Given the description of an element on the screen output the (x, y) to click on. 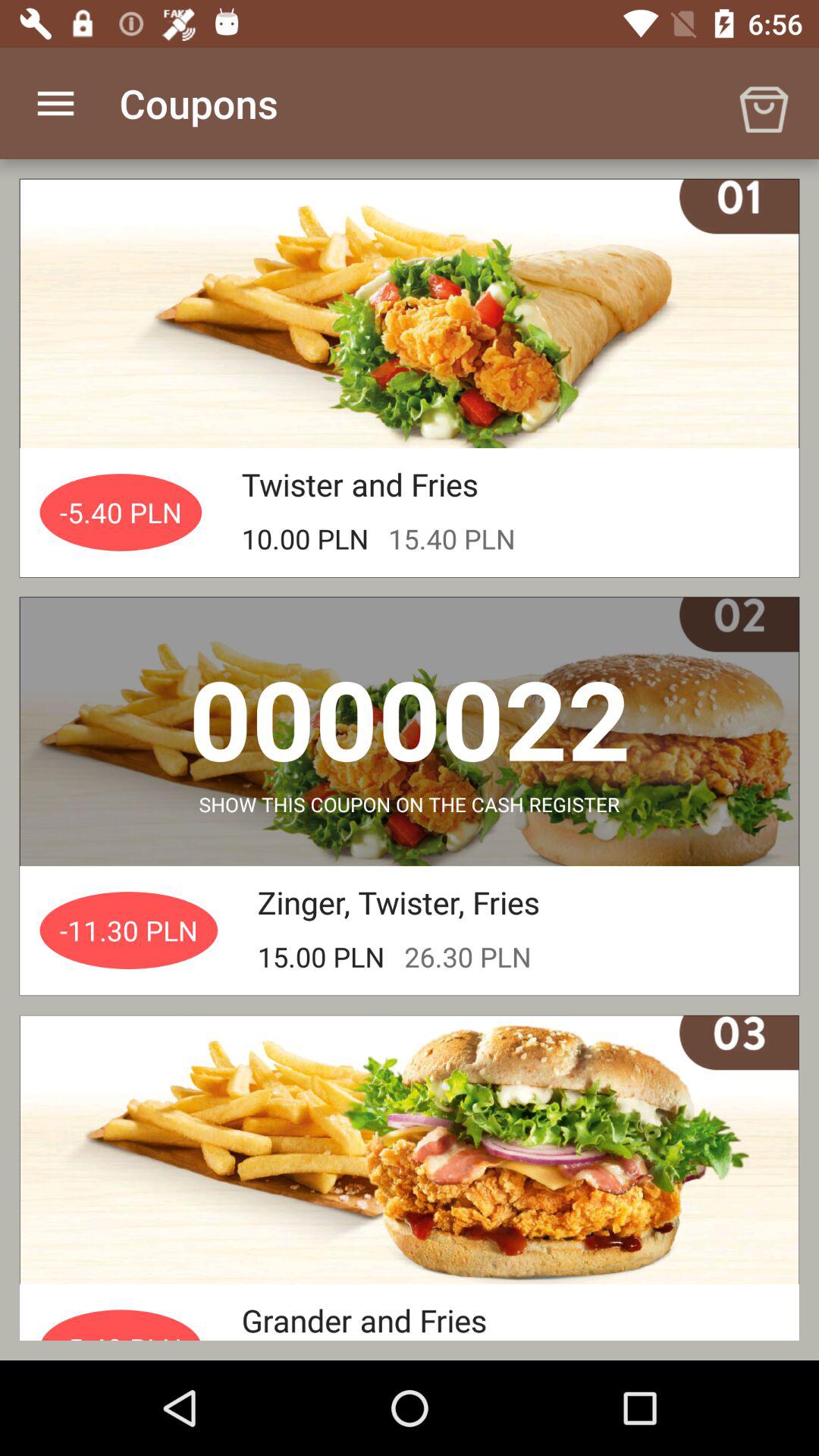
launch the icon at the top right corner (763, 103)
